Given the description of an element on the screen output the (x, y) to click on. 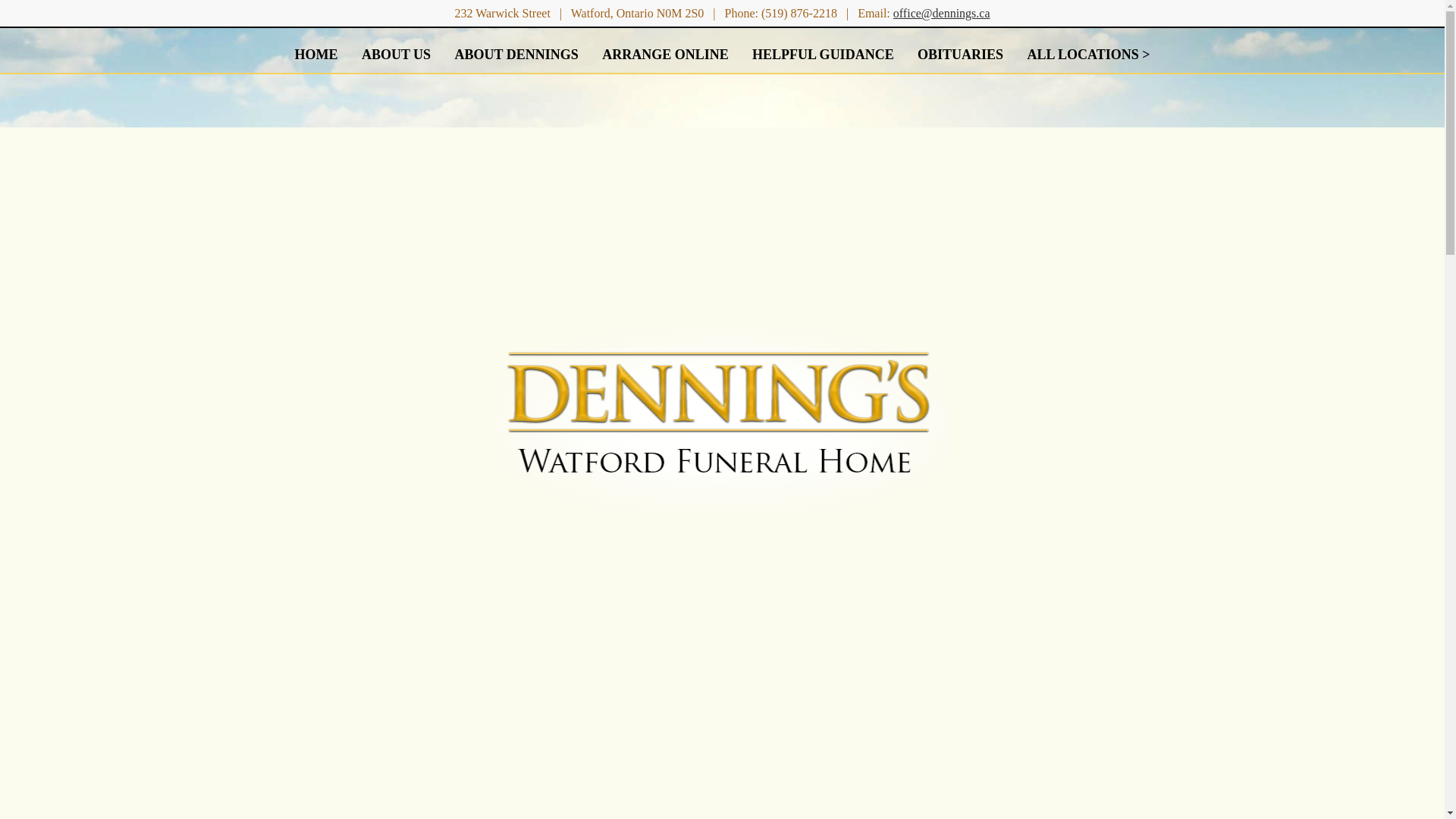
HOME (316, 49)
ARRANGE ONLINE (665, 49)
OBITUARIES (959, 49)
HELPFUL GUIDANCE (823, 49)
ABOUT DENNINGS (516, 49)
ABOUT US (395, 49)
